Given the description of an element on the screen output the (x, y) to click on. 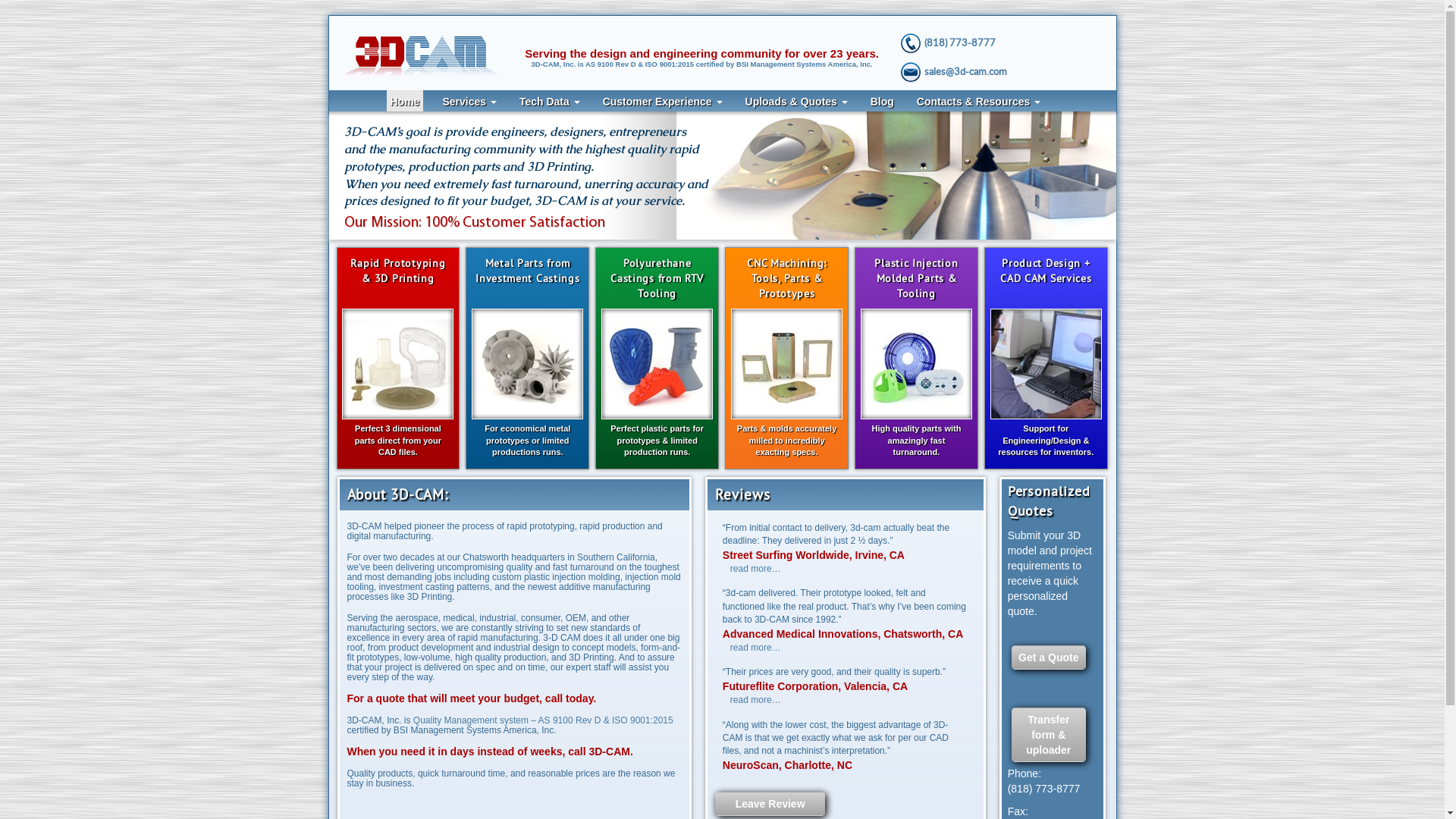
Get a Quote Element type: text (1048, 657)
3D-CAM Element type: hover (427, 56)
Blog Element type: text (881, 100)
Uploads & Quotes Element type: text (796, 100)
Customer Experience Element type: text (662, 100)
Leave Review Element type: text (770, 803)
Contacts & Resources Element type: text (978, 100)
Transfer form & uploader Element type: text (1048, 734)
Services Element type: text (469, 100)
Home Element type: text (404, 100)
Tech Data Element type: text (549, 100)
sales@3d-cam.com Element type: text (965, 71)
